Given the description of an element on the screen output the (x, y) to click on. 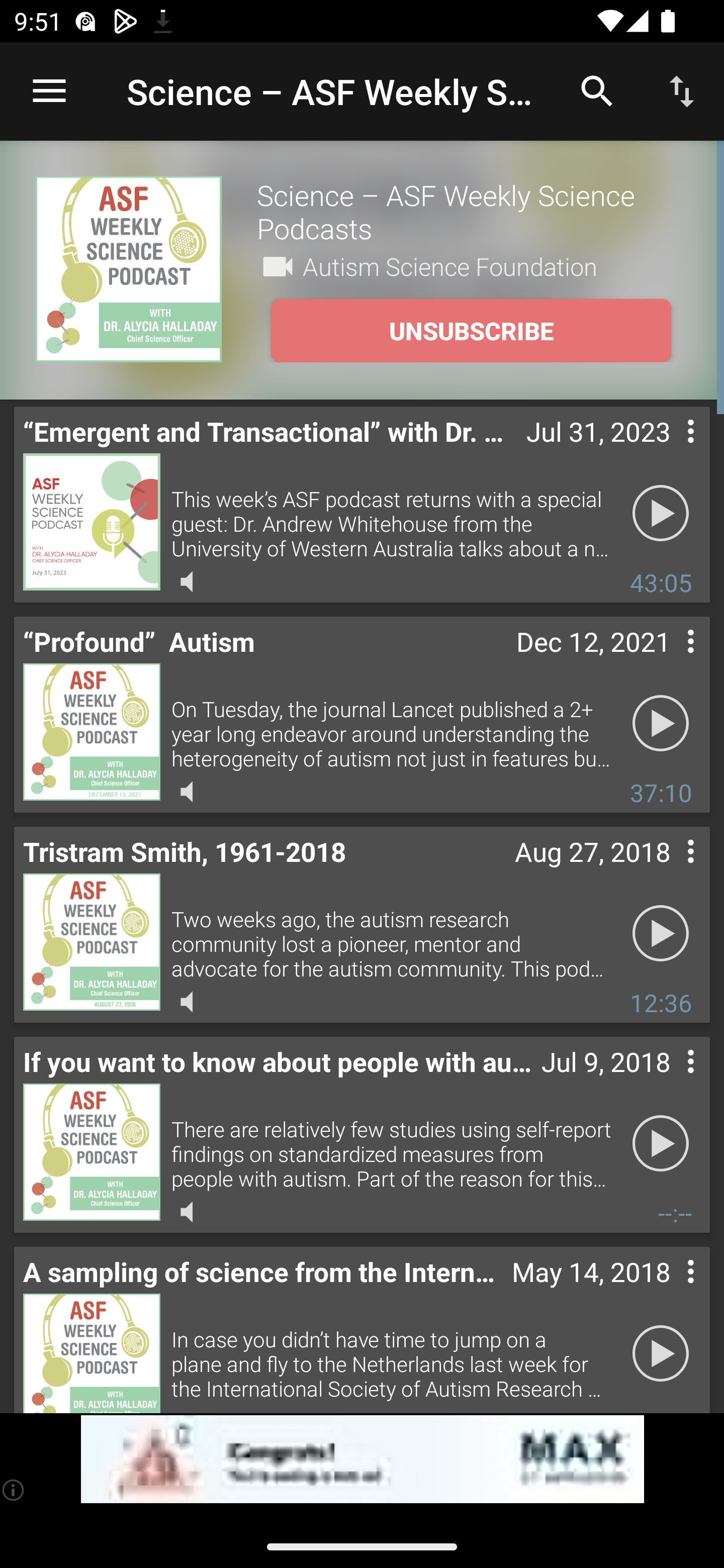
Open navigation sidebar (49, 91)
Search (597, 90)
Sort (681, 90)
UNSUBSCRIBE (470, 330)
Contextual menu (668, 451)
Play (660, 513)
Contextual menu (668, 661)
Play (660, 723)
Contextual menu (668, 870)
Play (660, 933)
Contextual menu (668, 1080)
Play (660, 1143)
Contextual menu (668, 1290)
Play (660, 1353)
app-monetization (362, 1459)
(i) (14, 1489)
